Given the description of an element on the screen output the (x, y) to click on. 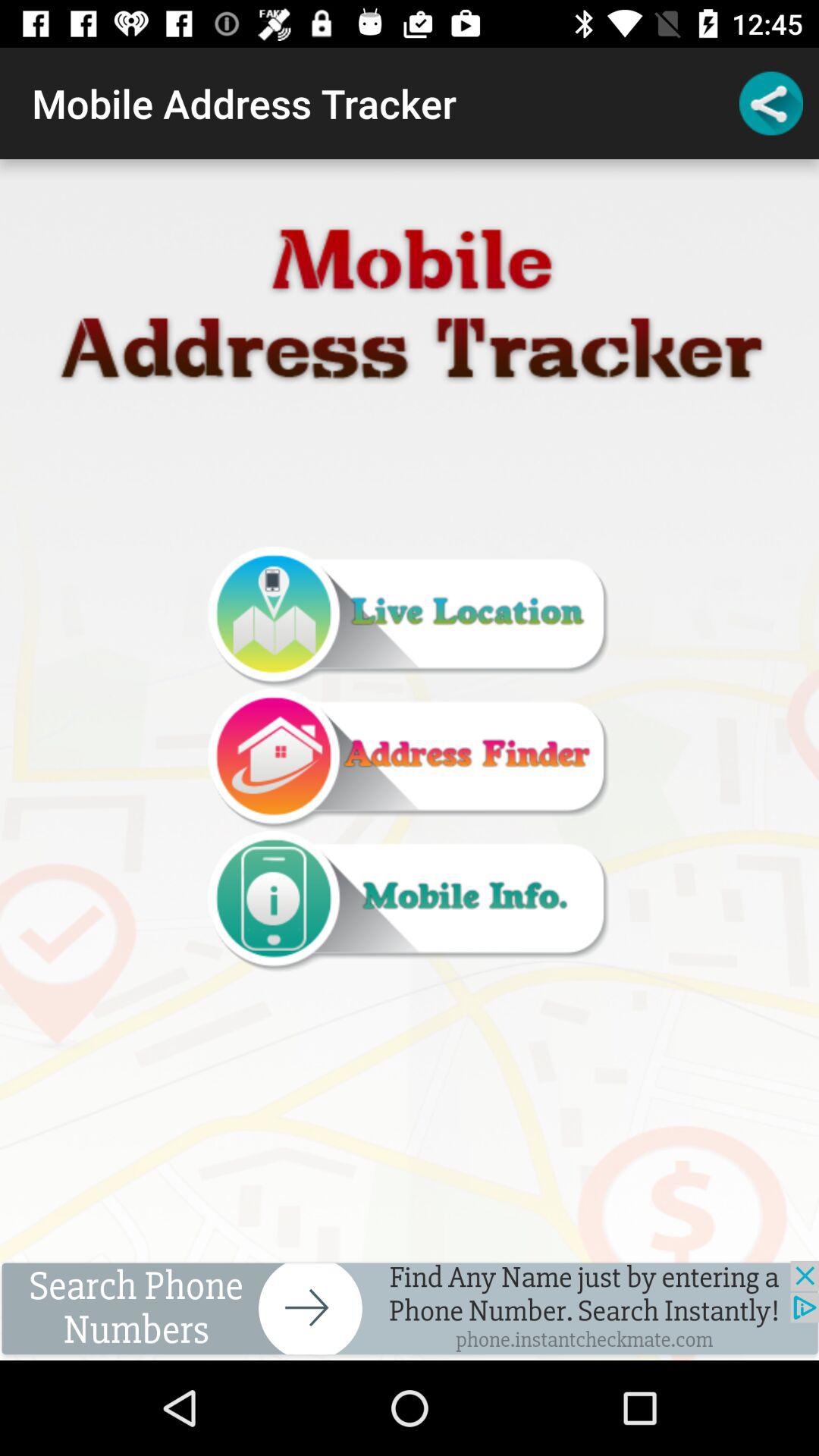
open advertisement (409, 1310)
